Given the description of an element on the screen output the (x, y) to click on. 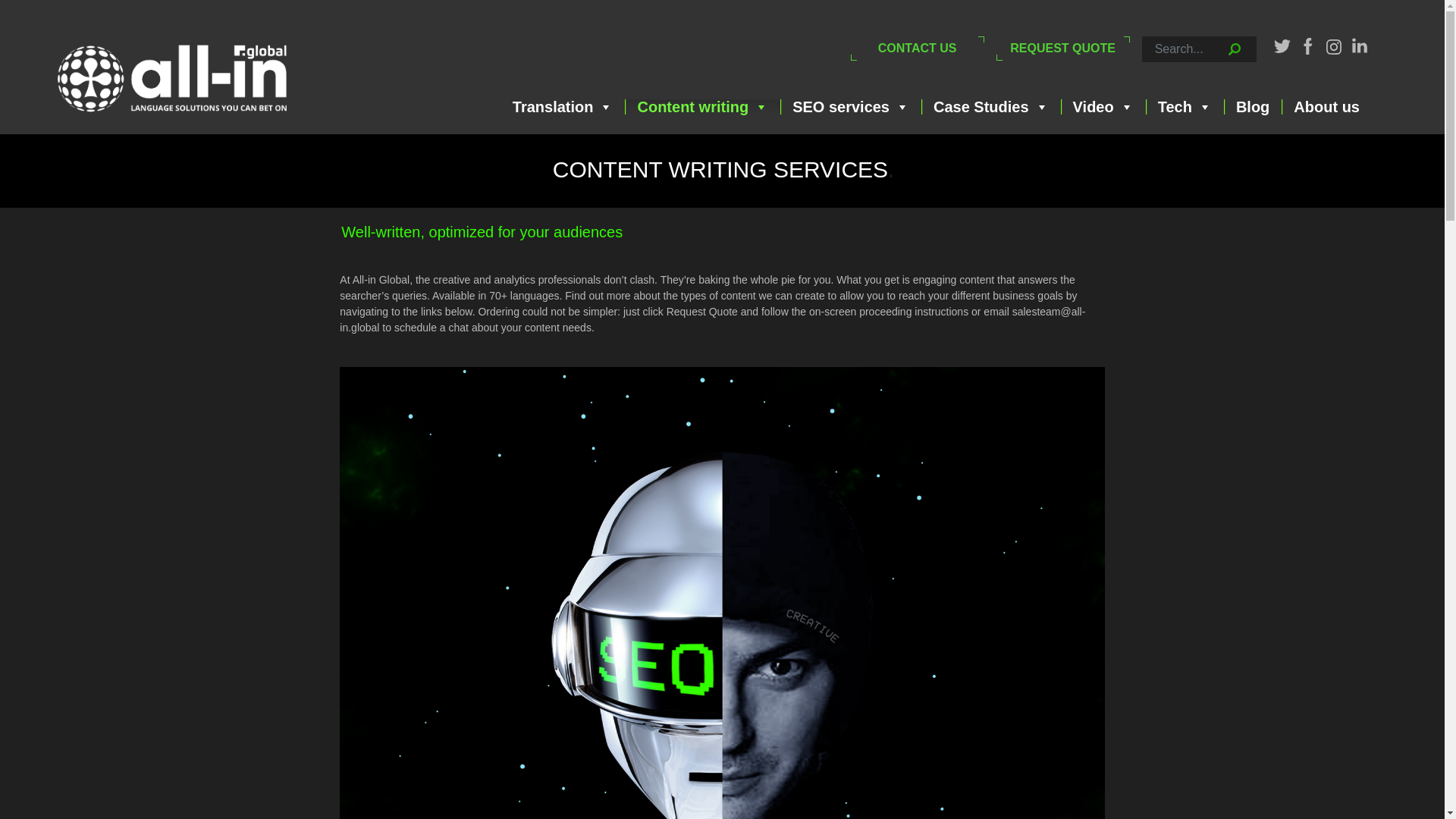
Case Studies (991, 106)
SEO services (850, 106)
Search (1150, 66)
Search (1150, 66)
Content writing (703, 106)
CONTACT US (917, 48)
REQUEST QUOTE (1062, 48)
Translation (563, 106)
Video (1103, 106)
